Given the description of an element on the screen output the (x, y) to click on. 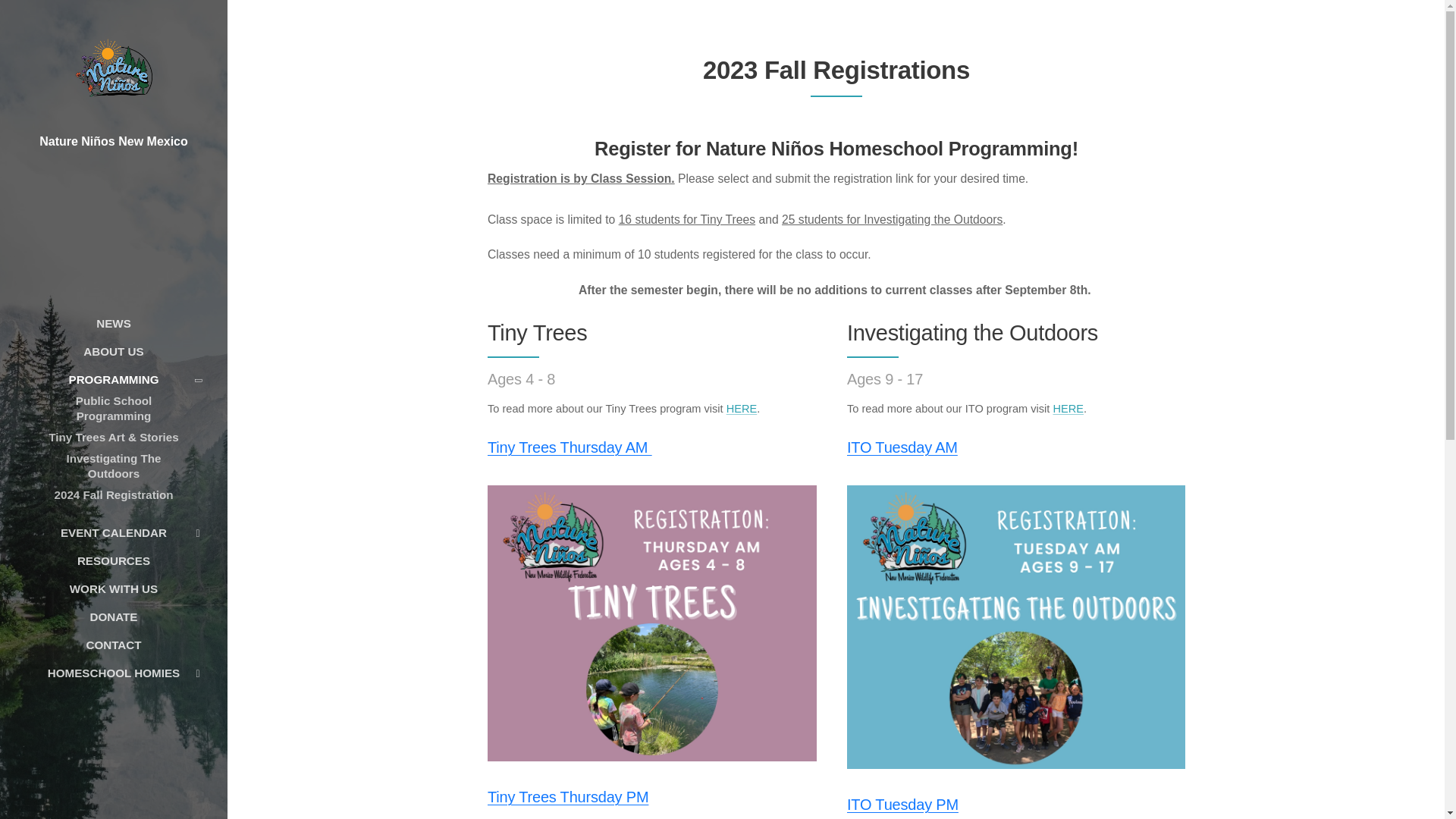
HERE (1067, 408)
ITO Tuesday PM (901, 804)
HOMESCHOOL HOMIES (113, 672)
Public School Programming (113, 408)
Tiny Trees Thursday PM (566, 796)
CONTACT (113, 644)
NEWS (113, 323)
EVENT CALENDAR (113, 532)
RESOURCES (113, 560)
ITO Tuesday AM (900, 446)
DONATE (113, 616)
WORK WITH US (113, 588)
ABOUT US (113, 351)
2024 Fall Registration (113, 495)
HERE (741, 408)
